Given the description of an element on the screen output the (x, y) to click on. 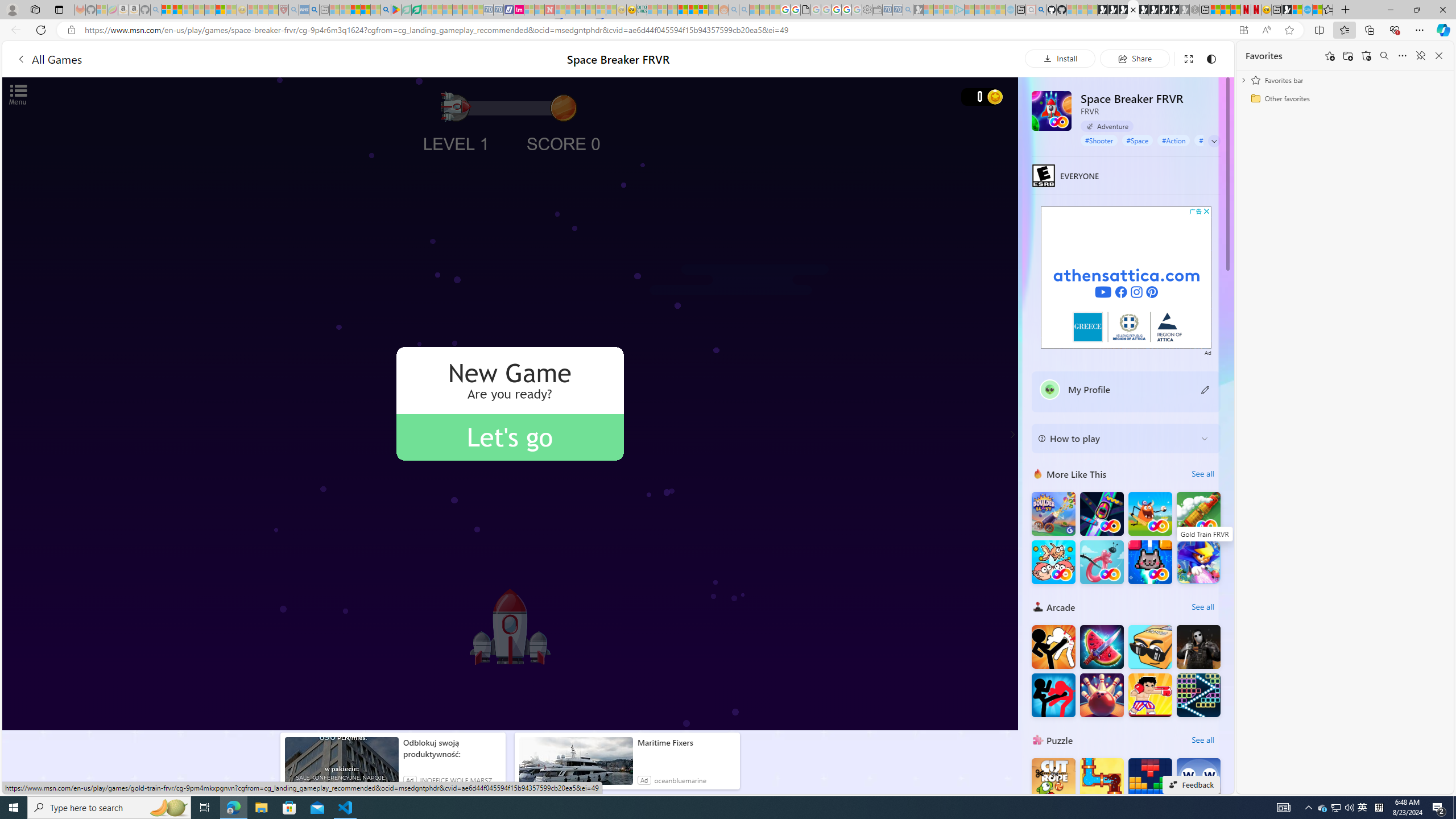
14 Common Myths Debunked By Scientific Facts - Sleeping (569, 9)
MSN (1286, 9)
Cut the Rope (1053, 779)
Full screen (1187, 58)
anim-content (576, 765)
Monster Bash FRVR (1149, 513)
Bing Real Estate - Home sales and rental listings - Sleeping (907, 9)
Super Bowling Mania (1101, 694)
Puzzle (1037, 739)
